Given the description of an element on the screen output the (x, y) to click on. 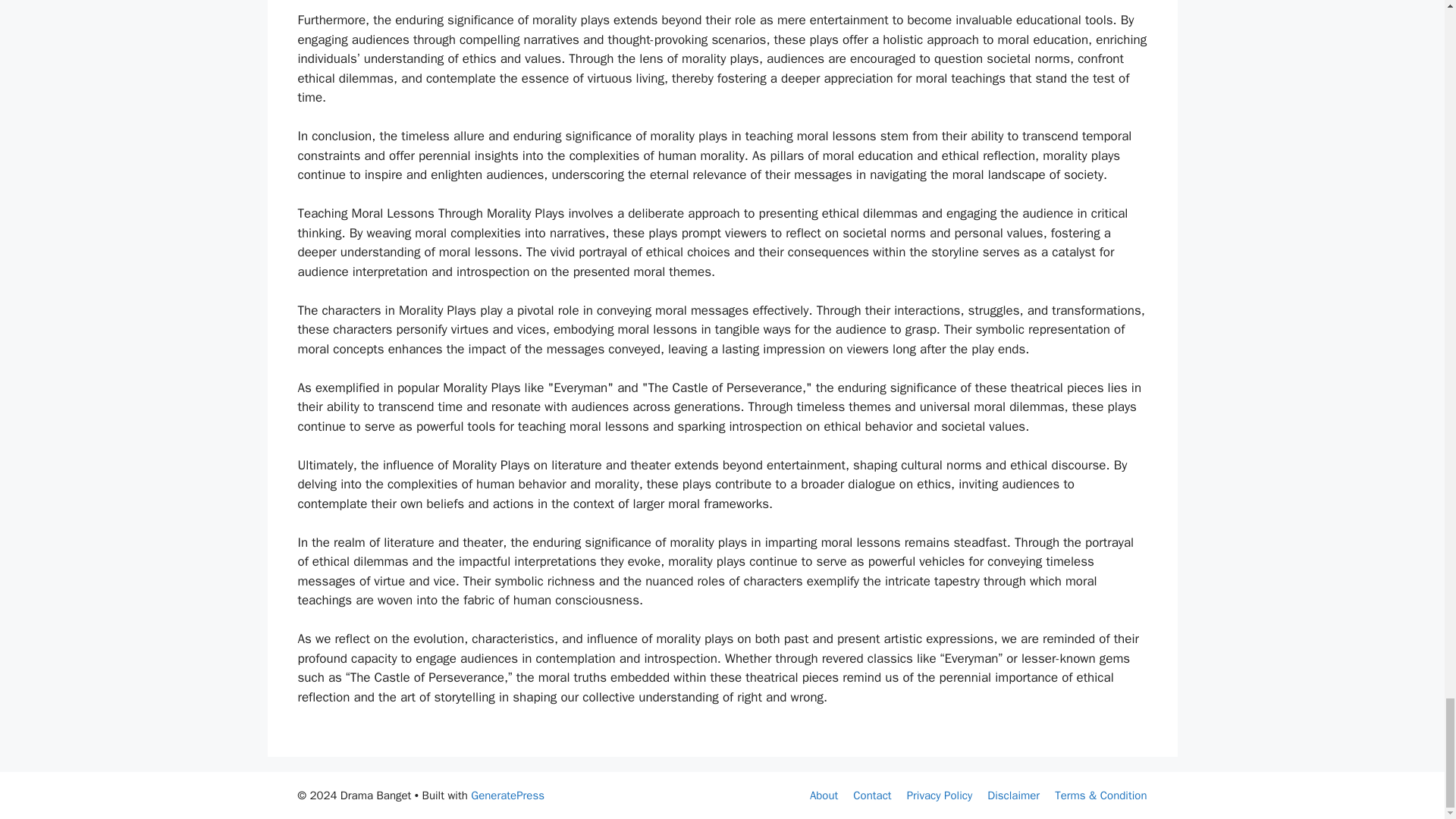
Privacy Policy (939, 795)
Disclaimer (1013, 795)
GeneratePress (507, 795)
About (823, 795)
Contact (872, 795)
